Given the description of an element on the screen output the (x, y) to click on. 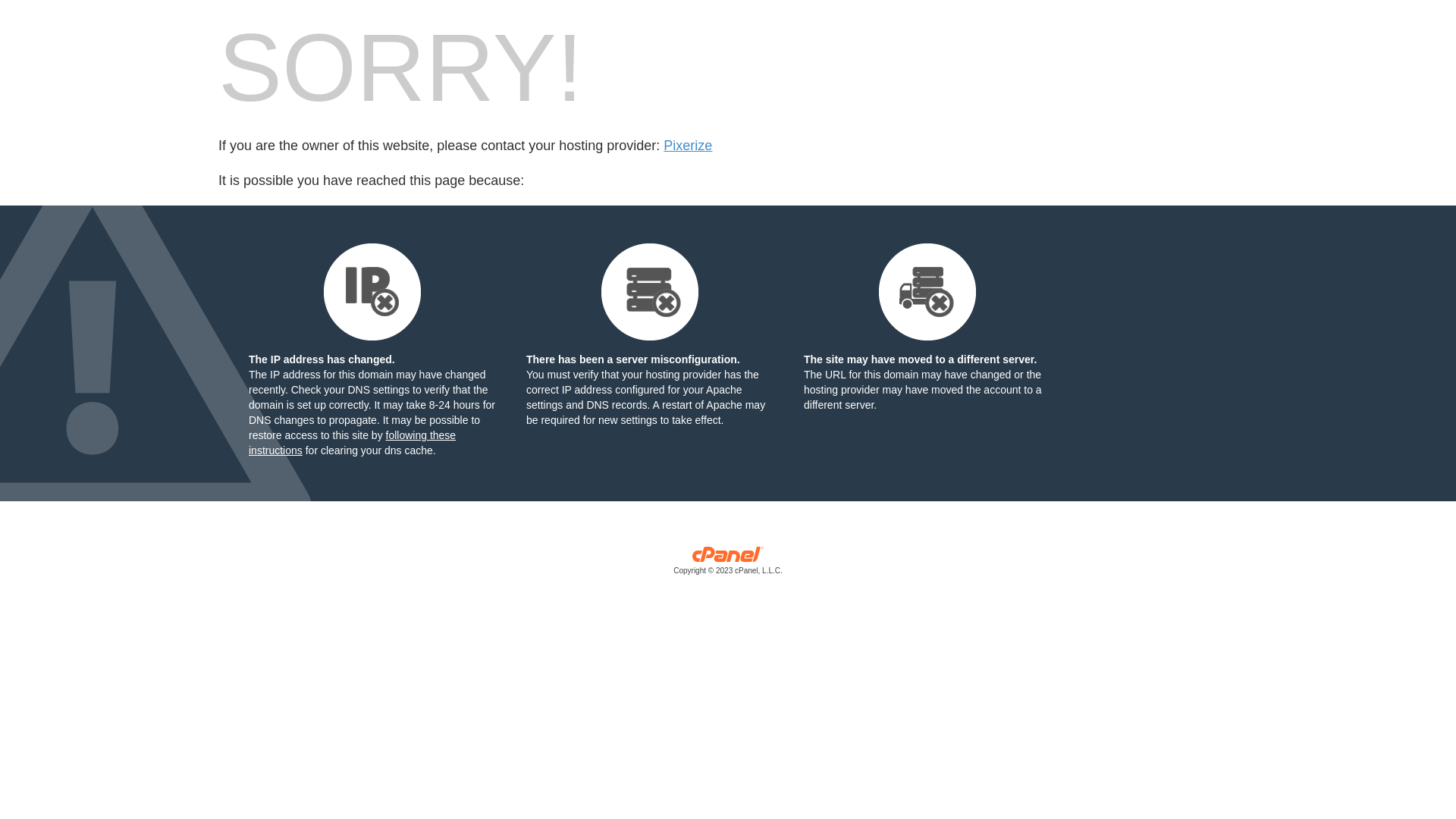
Pixerize Element type: text (687, 145)
following these instructions Element type: text (351, 442)
